Given the description of an element on the screen output the (x, y) to click on. 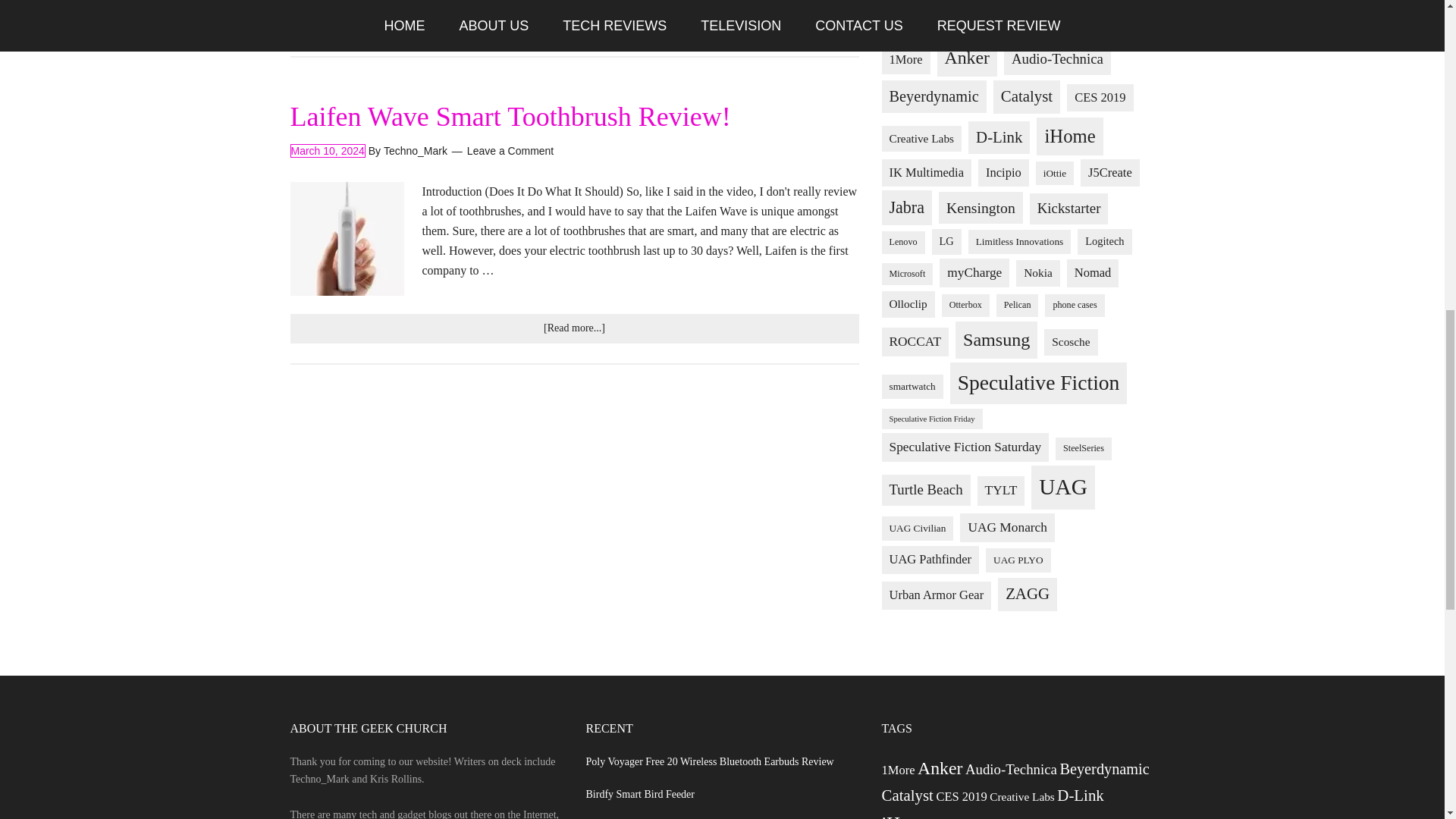
Laifen Wave Smart Toothbrush Review! (509, 116)
Leave a Comment (510, 150)
